Given the description of an element on the screen output the (x, y) to click on. 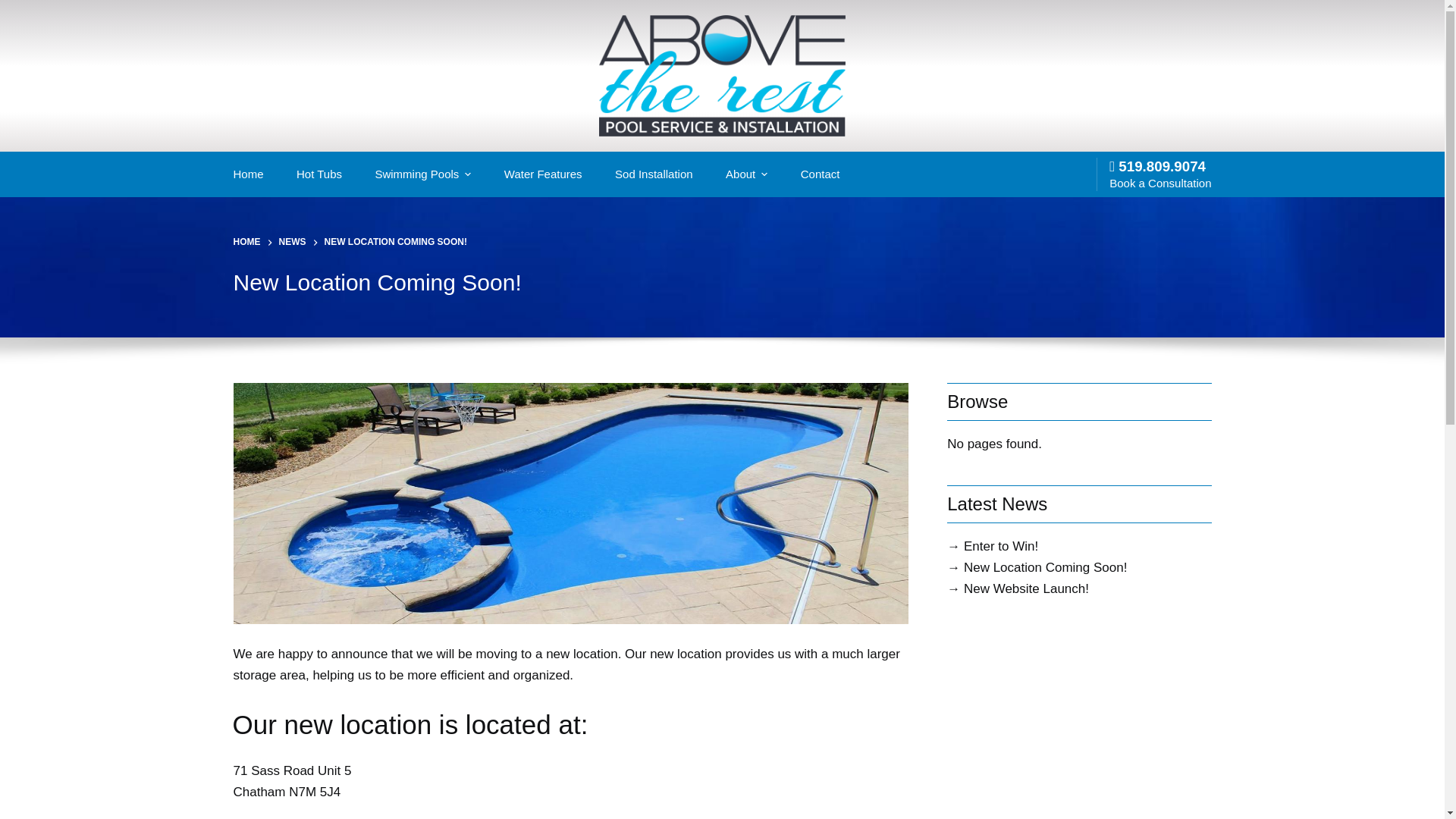
Send Message (1090, 578)
Water Features (543, 174)
About (746, 174)
Hot Tubs (319, 174)
New Location Coming Soon! (721, 282)
Skip to content (15, 7)
Swimming Pools (422, 174)
Sod Installation (654, 174)
